Given the description of an element on the screen output the (x, y) to click on. 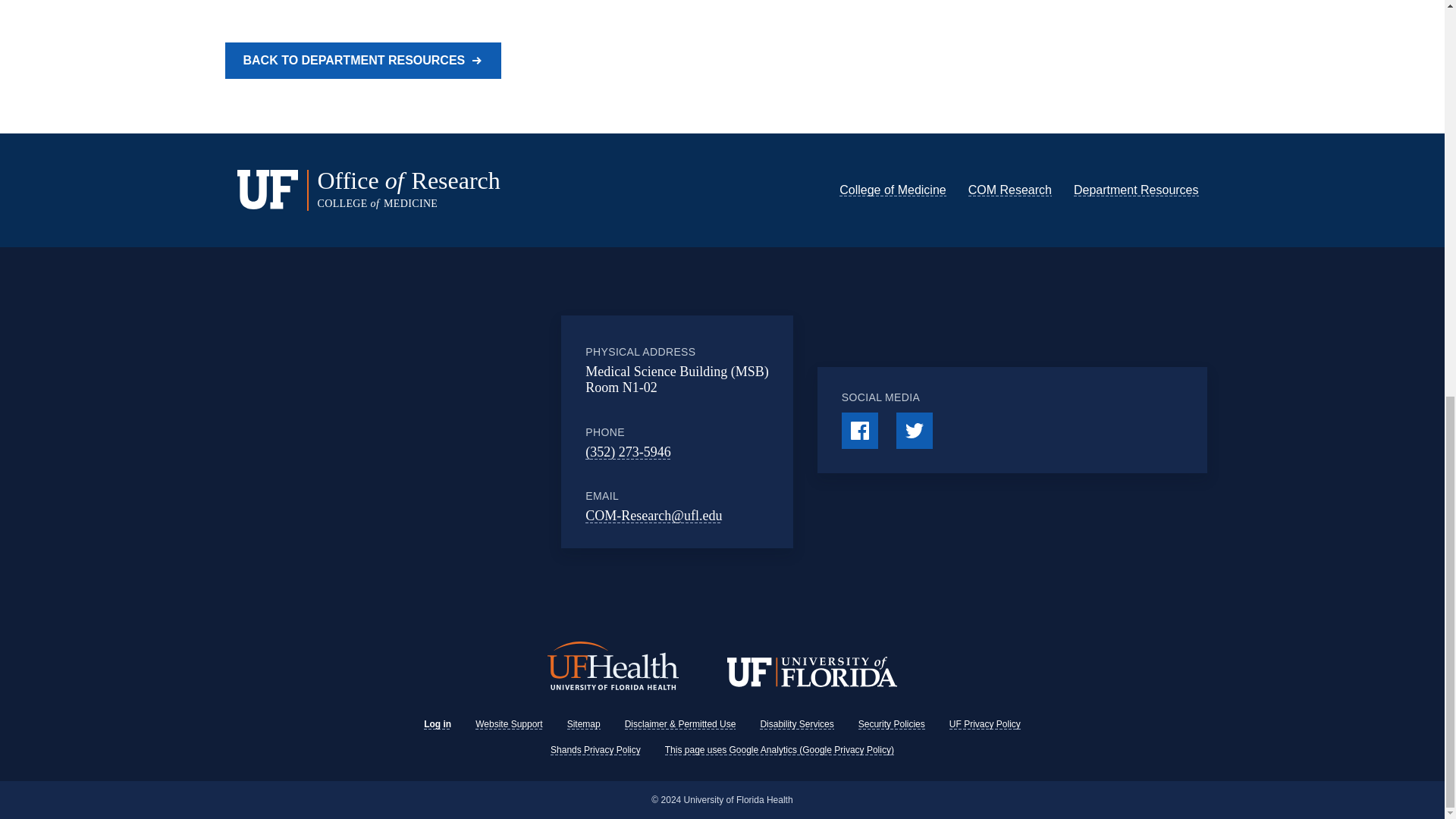
College of Medicine (893, 189)
UF Privacy Policy (984, 724)
Shands Privacy Policy (595, 749)
COM Research (1009, 189)
Website Support (509, 724)
Security Policies (891, 724)
Disability Services (796, 724)
Log in (437, 724)
Google Maps Embed (446, 431)
Department Resources (1136, 189)
Sitemap (583, 724)
